Given the description of an element on the screen output the (x, y) to click on. 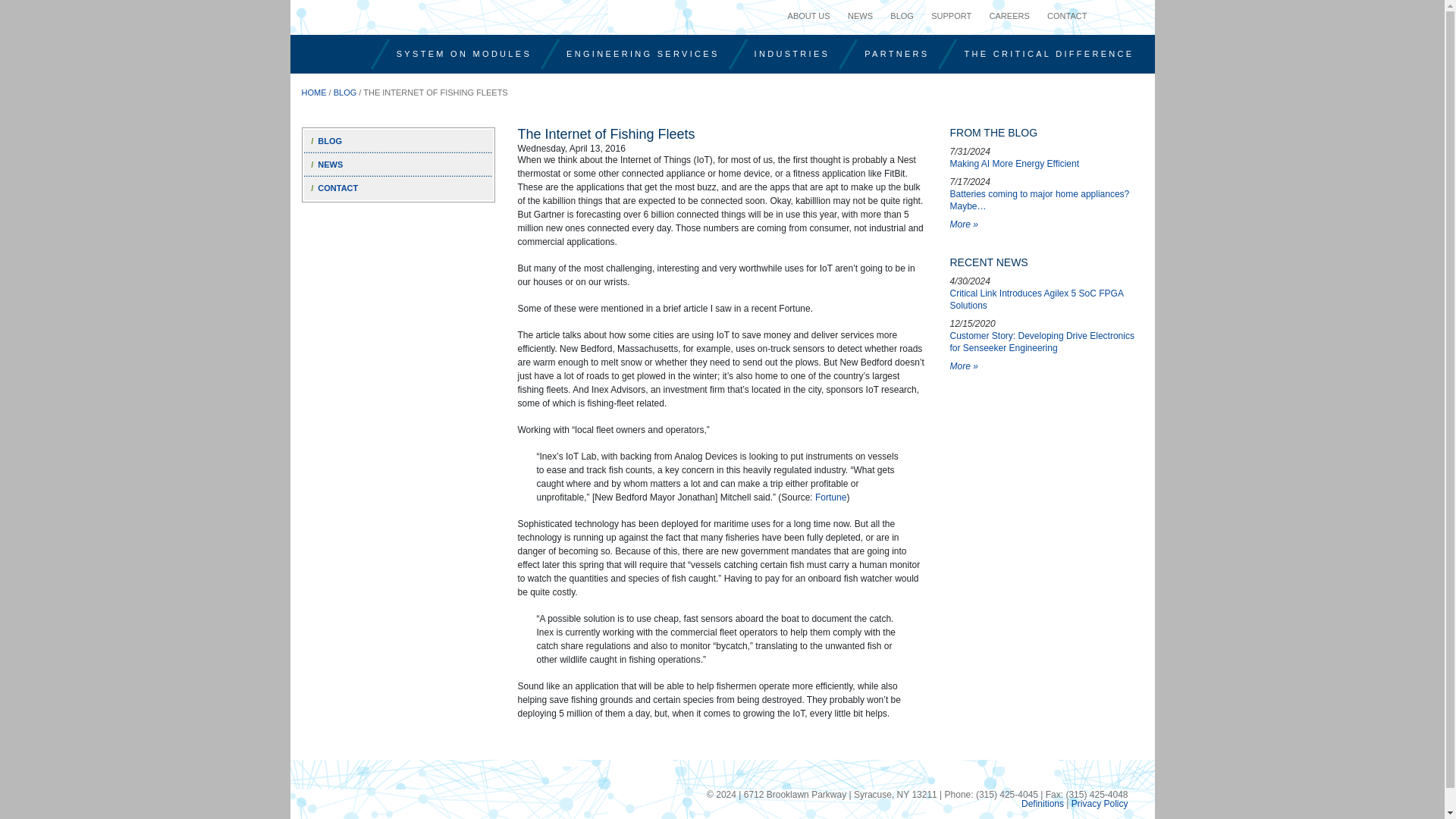
ABOUT US (809, 15)
Critical Link Introduces Agilex 5 SoC FPGA Solutions (1045, 293)
ENGINEERING SERVICES (642, 53)
SYSTEM ON MODULES (463, 53)
SUPPORT (950, 15)
INDUSTRIES (791, 53)
CONTACT (1066, 15)
NEWS (860, 15)
Go to the Blog Category archives. (344, 92)
Go to Critical Link. (313, 92)
BLOG (901, 15)
CAREERS (1008, 15)
Making AI More Energy Efficient (1045, 156)
